Given the description of an element on the screen output the (x, y) to click on. 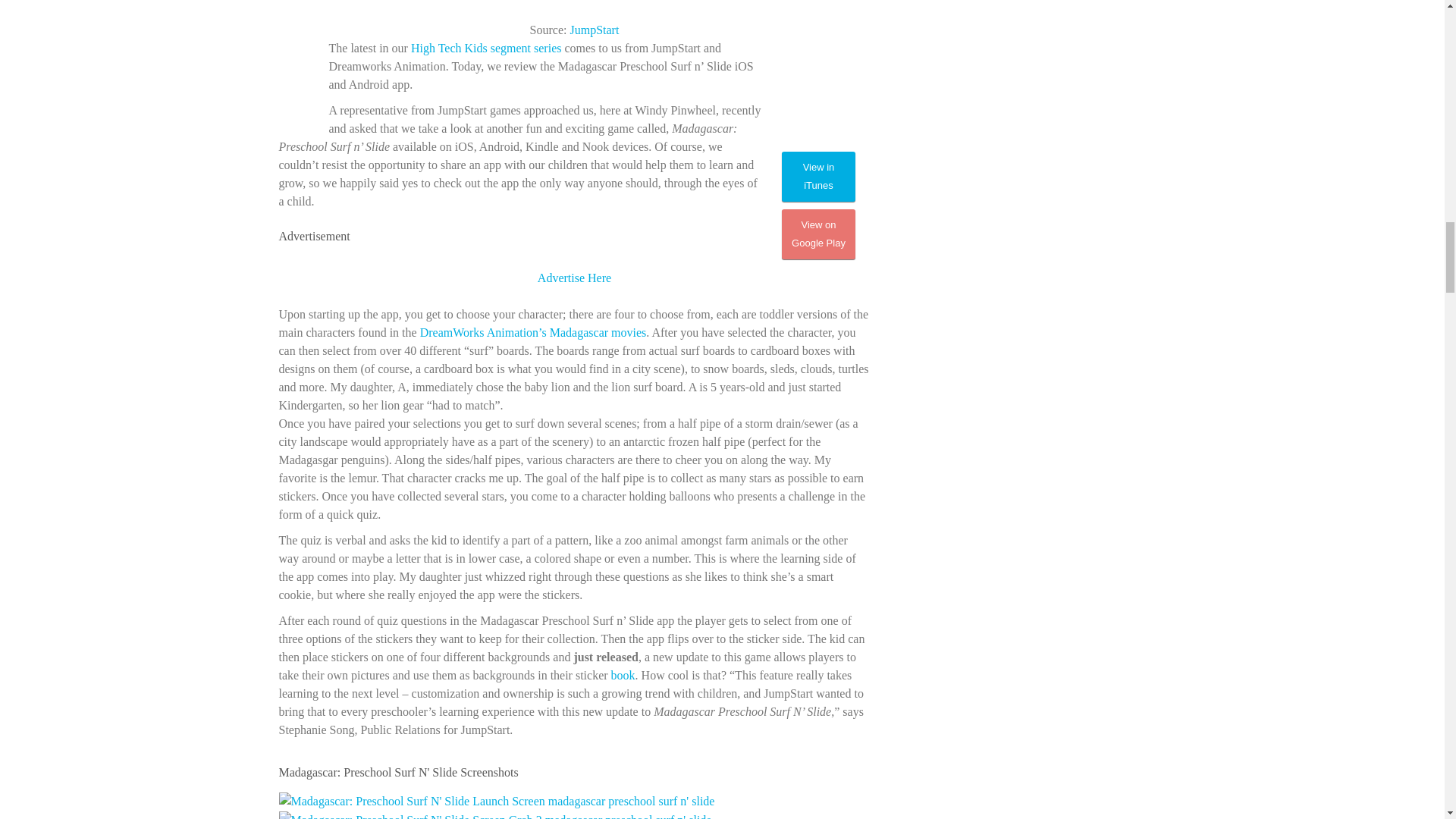
madagascar preschool surf n' slide: (593, 29)
madagascar preschool surf n' slide:  View in iTunes (818, 176)
madagascar preschool surf n' slide (815, 92)
madagascar preschool surf n' slide: (486, 47)
madagascar preschool surf n' slide:  View on Google Play (818, 234)
madagascar preschool surf n' slide: windypinwheel.com (520, 258)
madagascar preschool surf n' slide (574, 10)
